Given the description of an element on the screen output the (x, y) to click on. 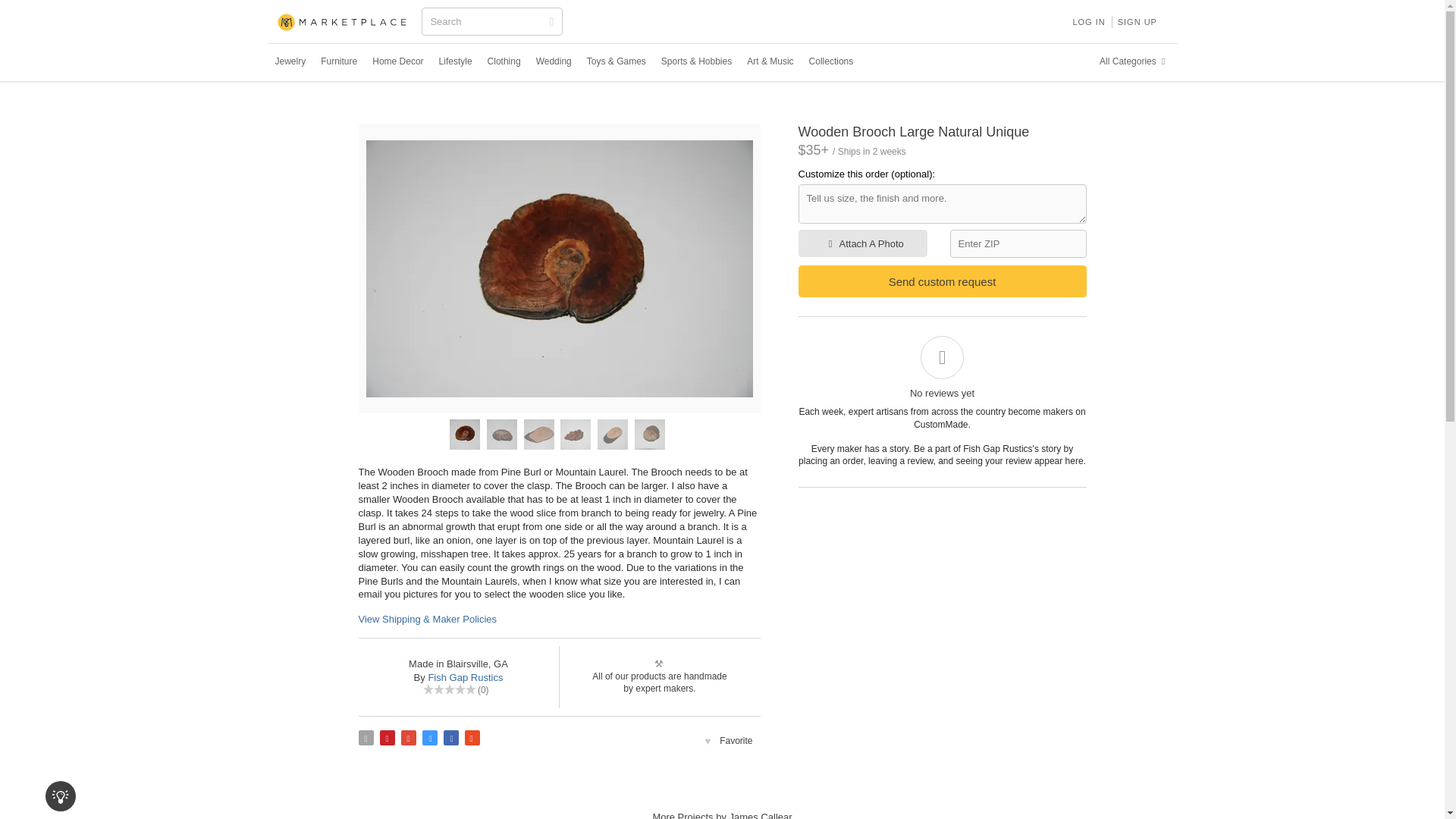
LOG IN (1087, 21)
CUSTOMMADE (342, 22)
Jewelry (289, 61)
Custom Jewelry (289, 61)
SIGN UP (1137, 21)
All Categories (1134, 61)
Log in to CustomMade (1087, 21)
